Given the description of an element on the screen output the (x, y) to click on. 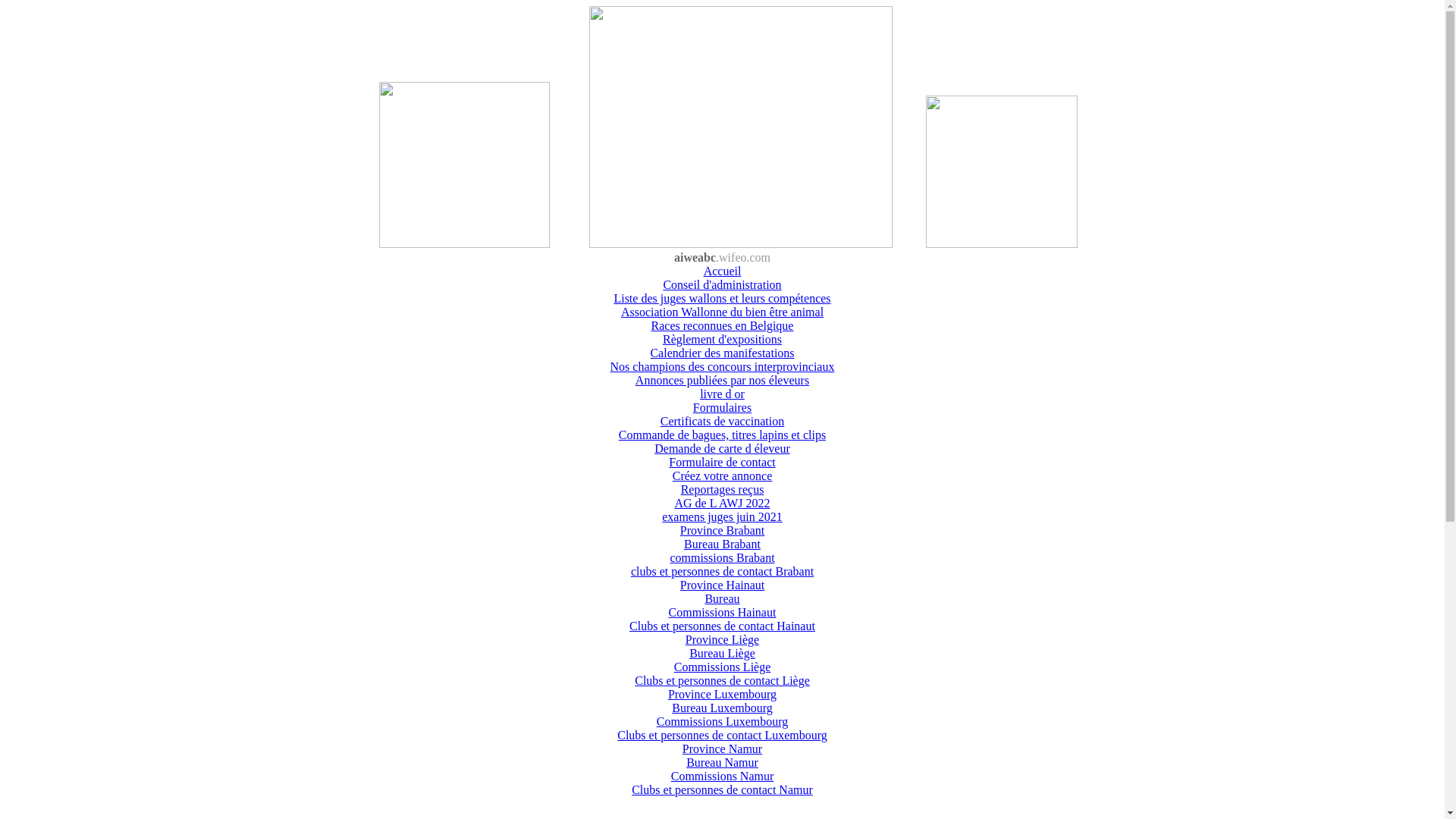
examens juges juin 2021 Element type: text (722, 516)
Certificats de vaccination Element type: text (722, 420)
Province Namur Element type: text (722, 748)
Calendrier des manifestations Element type: text (721, 352)
commissions Brabant Element type: text (721, 557)
Formulaire de contact Element type: text (721, 461)
Formulaires Element type: text (722, 407)
Commissions Luxembourg Element type: text (722, 721)
Commissions Namur Element type: text (722, 775)
Commissions Hainaut Element type: text (722, 611)
livre d or Element type: text (721, 393)
Bureau Namur Element type: text (722, 762)
Conseil d'administration Element type: text (721, 284)
Bureau Luxembourg Element type: text (721, 707)
Races reconnues en Belgique Element type: text (722, 325)
Province Luxembourg Element type: text (722, 693)
Clubs et personnes de contact Namur Element type: text (721, 789)
Bureau Element type: text (721, 598)
Nos champions des concours interprovinciaux Element type: text (722, 366)
clubs et personnes de contact Brabant Element type: text (721, 570)
Clubs et personnes de contact Hainaut Element type: text (722, 625)
Accueil Element type: text (722, 270)
Province Brabant Element type: text (722, 530)
Bureau Brabant Element type: text (722, 543)
Commande de bagues, titres lapins et clips Element type: text (721, 434)
AG de L AWJ 2022 Element type: text (721, 502)
Province Hainaut Element type: text (722, 584)
Clubs et personnes de contact Luxembourg Element type: text (722, 734)
